Given the description of an element on the screen output the (x, y) to click on. 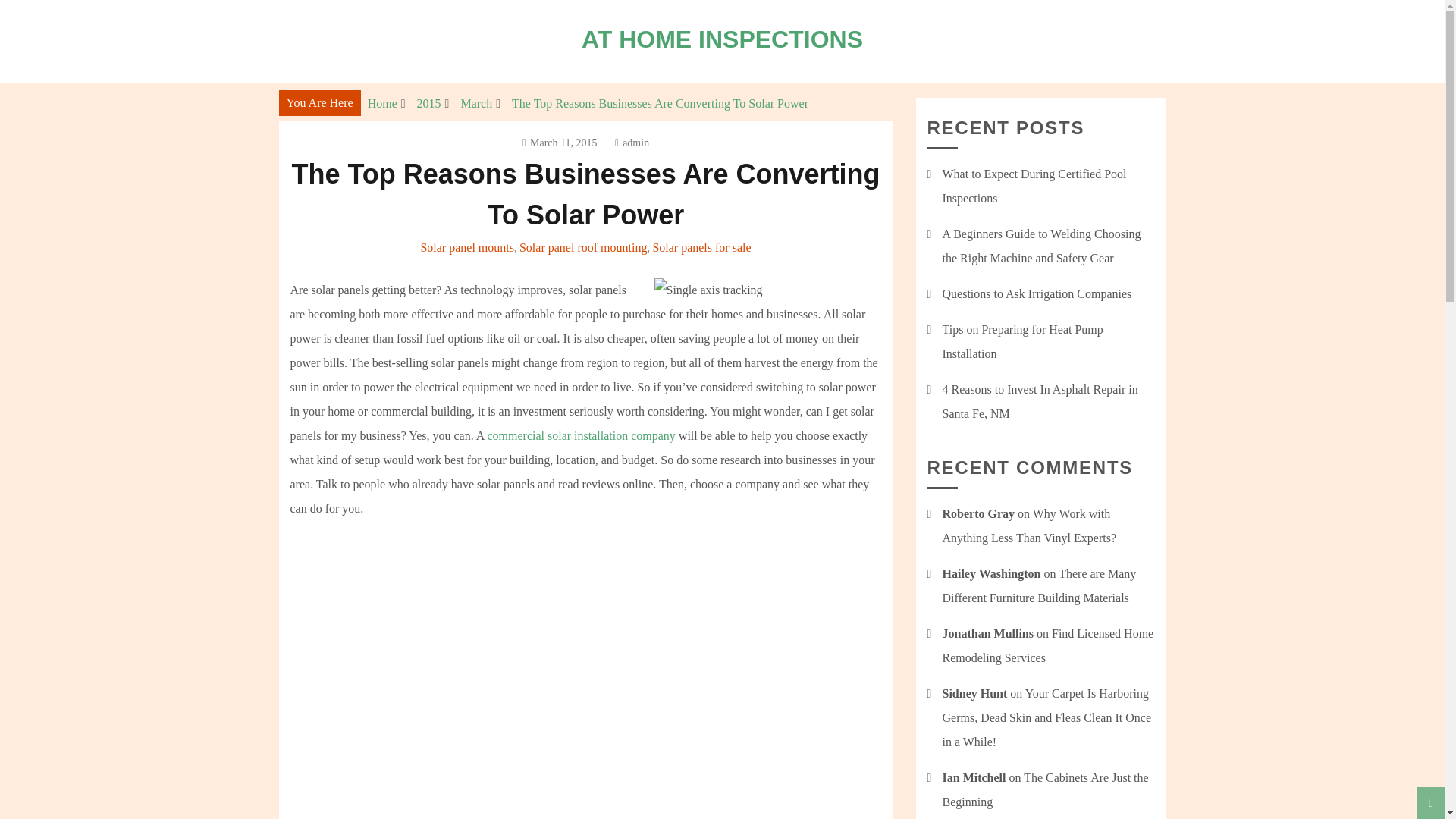
Tips on Preparing for Heat Pump Installation (1022, 341)
What to Expect During Certified Pool Inspections (1033, 185)
2015 (428, 103)
Questions to Ask Irrigation Companies (1036, 293)
What is Solar Energy? (531, 700)
Sidney Hunt (974, 693)
The Cabinets Are Just the Beginning (1045, 789)
Solar panels for sale (701, 246)
4 Reasons to Invest In Asphalt Repair in Santa Fe, NM (1039, 401)
There are Many Different Furniture Building Materials (1038, 585)
commercial solar installation company (580, 435)
March (476, 103)
Why Work with Anything Less Than Vinyl Experts? (1029, 525)
